Given the description of an element on the screen output the (x, y) to click on. 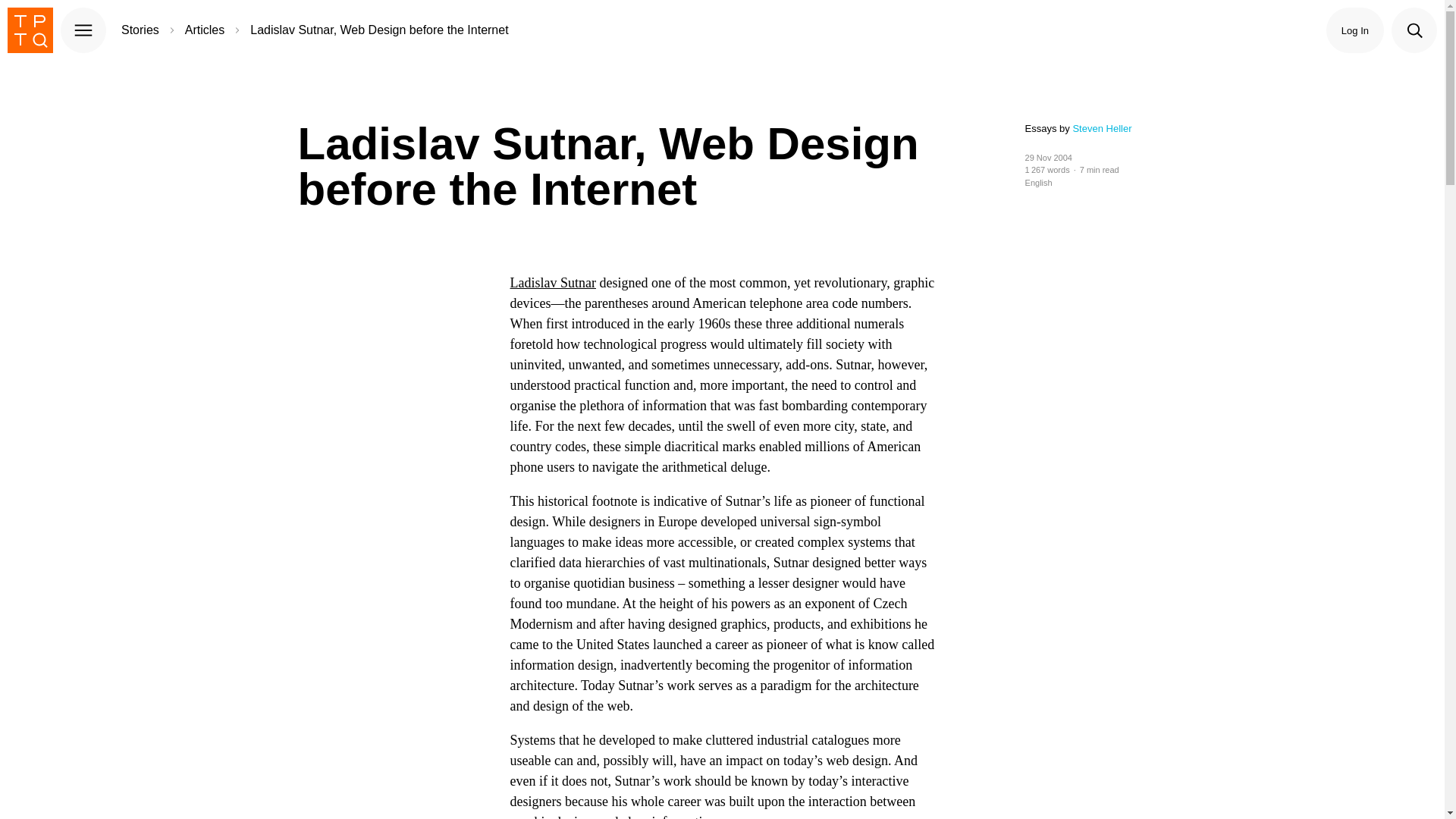
Open menu (83, 30)
Ladislav Sutnar (552, 282)
Stories (139, 30)
Steven Heller (1101, 128)
Open search (1414, 30)
Articles (204, 30)
Log In (1355, 30)
